Given the description of an element on the screen output the (x, y) to click on. 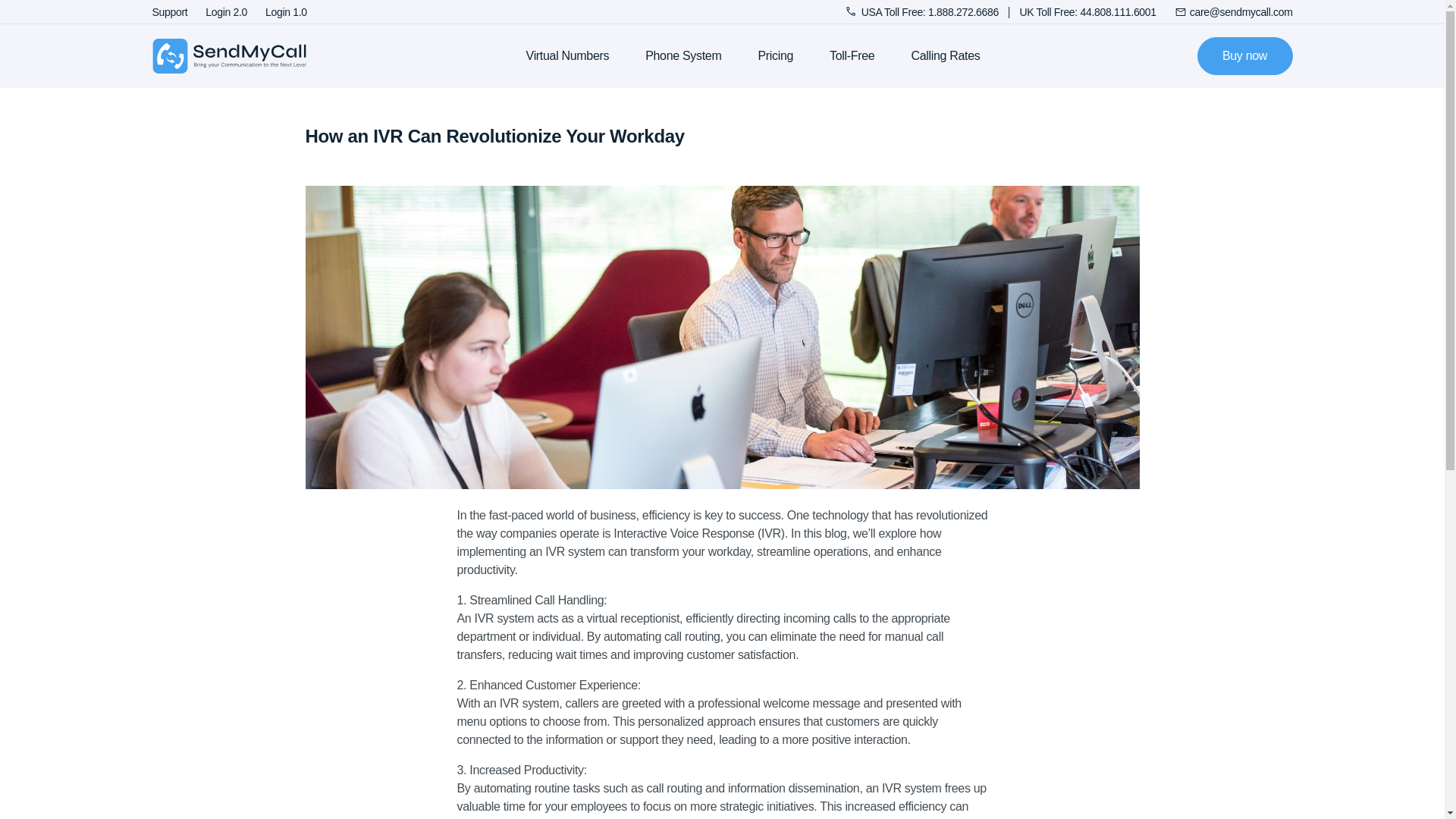
Calling Rates (945, 55)
Phone System (682, 55)
UK Toll Free: 44.808.111.6001 (1087, 11)
Virtual Numbers (567, 55)
Pricing (775, 55)
Login 2.0 (226, 11)
Buy now (1244, 55)
Support (169, 11)
Toll-Free (852, 55)
USA Toll Free: 1.888.272.6686 (923, 11)
Login 1.0 (285, 11)
